Given the description of an element on the screen output the (x, y) to click on. 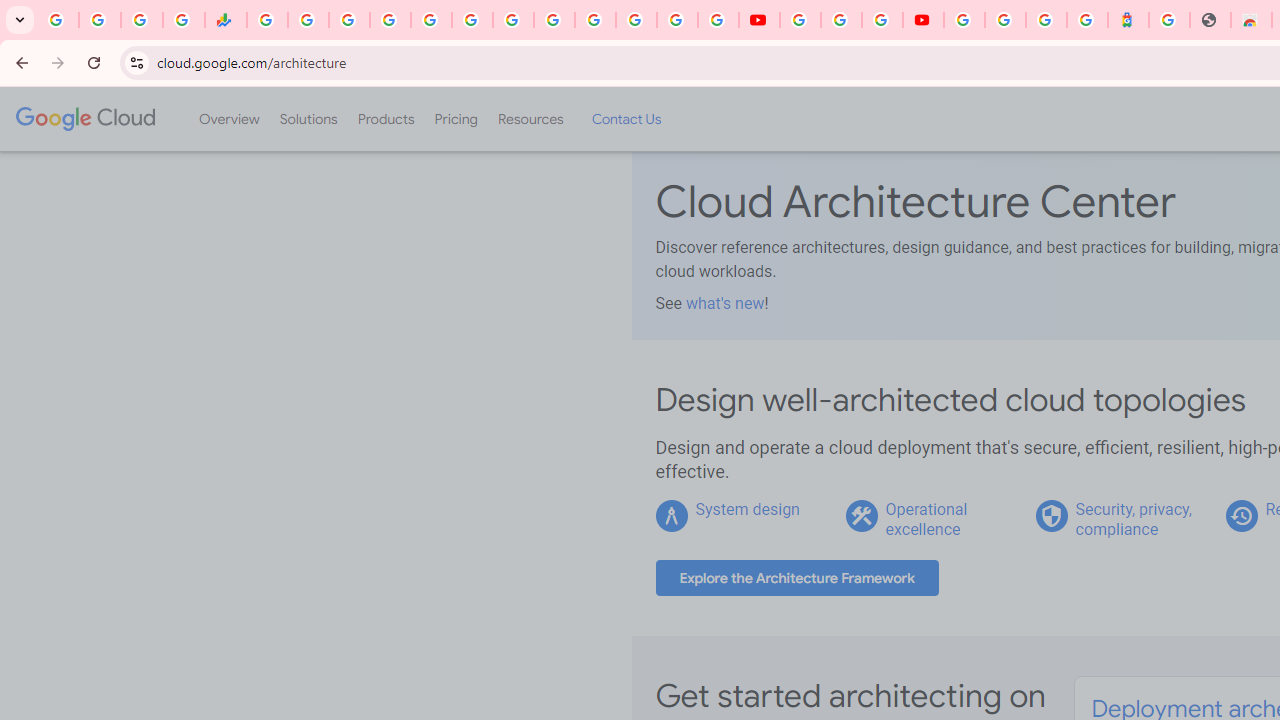
Contact Us (626, 119)
Google Account Help (840, 20)
Solutions (308, 119)
Operational excellence (925, 519)
Security, privacy, compliance (1133, 519)
Content Creator Programs & Opportunities - YouTube Creators (923, 20)
Create your Google Account (881, 20)
